Given the description of an element on the screen output the (x, y) to click on. 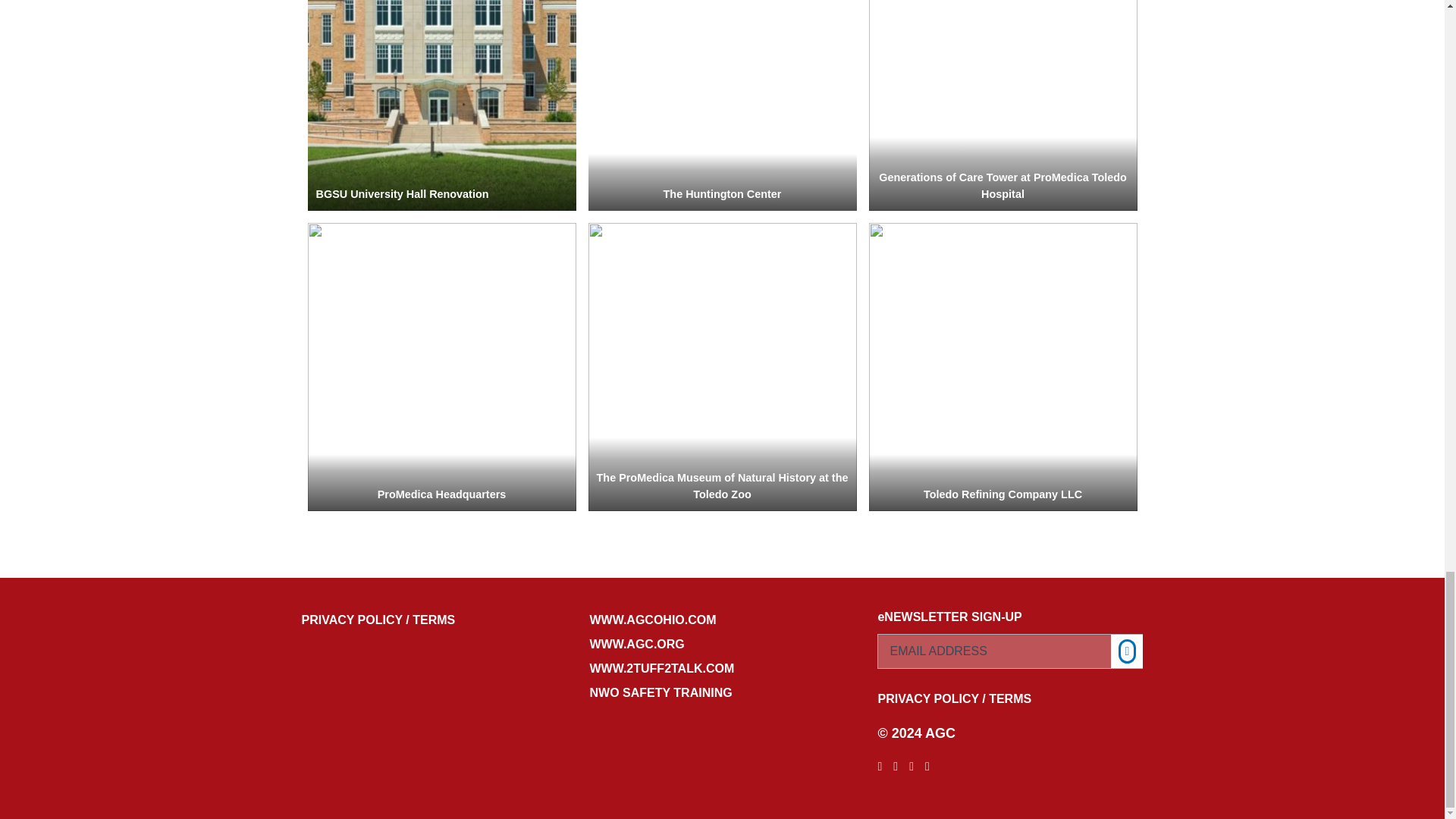
WWW.2TUFF2TALK.COM (721, 668)
NWO Safety Training (721, 692)
www.agcohio.com (721, 620)
WWW.AGC.ORG (721, 644)
WWW.AGCOHIO.COM (721, 620)
www.2tuff2talk.com (721, 668)
EMAIL ADDRESS (1009, 651)
NWO SAFETY TRAINING (721, 692)
www.agc.org (721, 644)
